Given the description of an element on the screen output the (x, y) to click on. 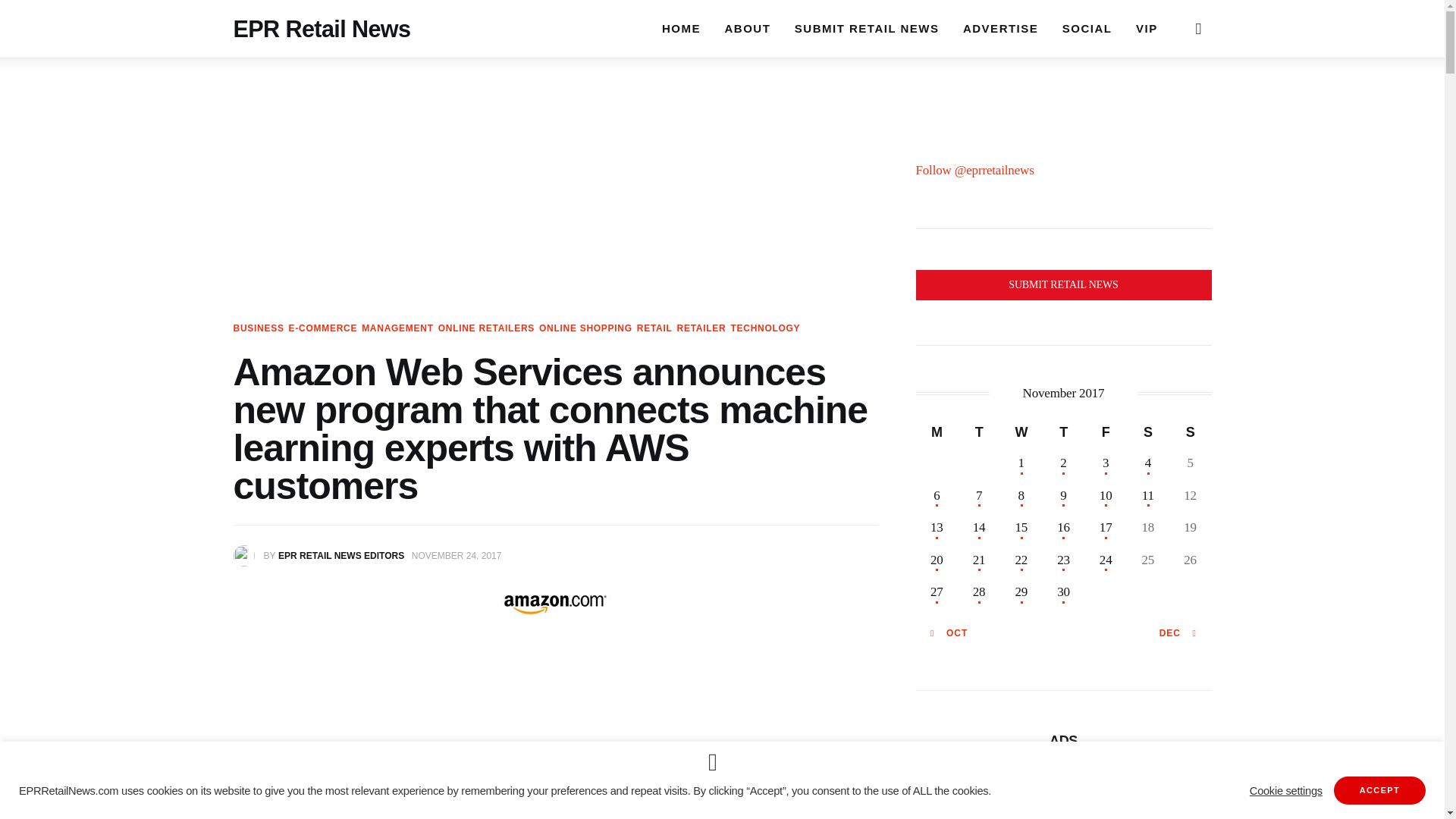
Advertisement (554, 738)
EPR Retail News (321, 25)
VIP (1146, 28)
SOCIAL (1086, 28)
Saturday (1147, 431)
Submit Retail News (1063, 285)
ABOUT (748, 28)
Sunday (1190, 431)
Wednesday (1021, 431)
Thursday (1063, 431)
Friday (1105, 431)
HOME (681, 28)
Tuesday (979, 431)
ADVERTISE (999, 28)
